Given the description of an element on the screen output the (x, y) to click on. 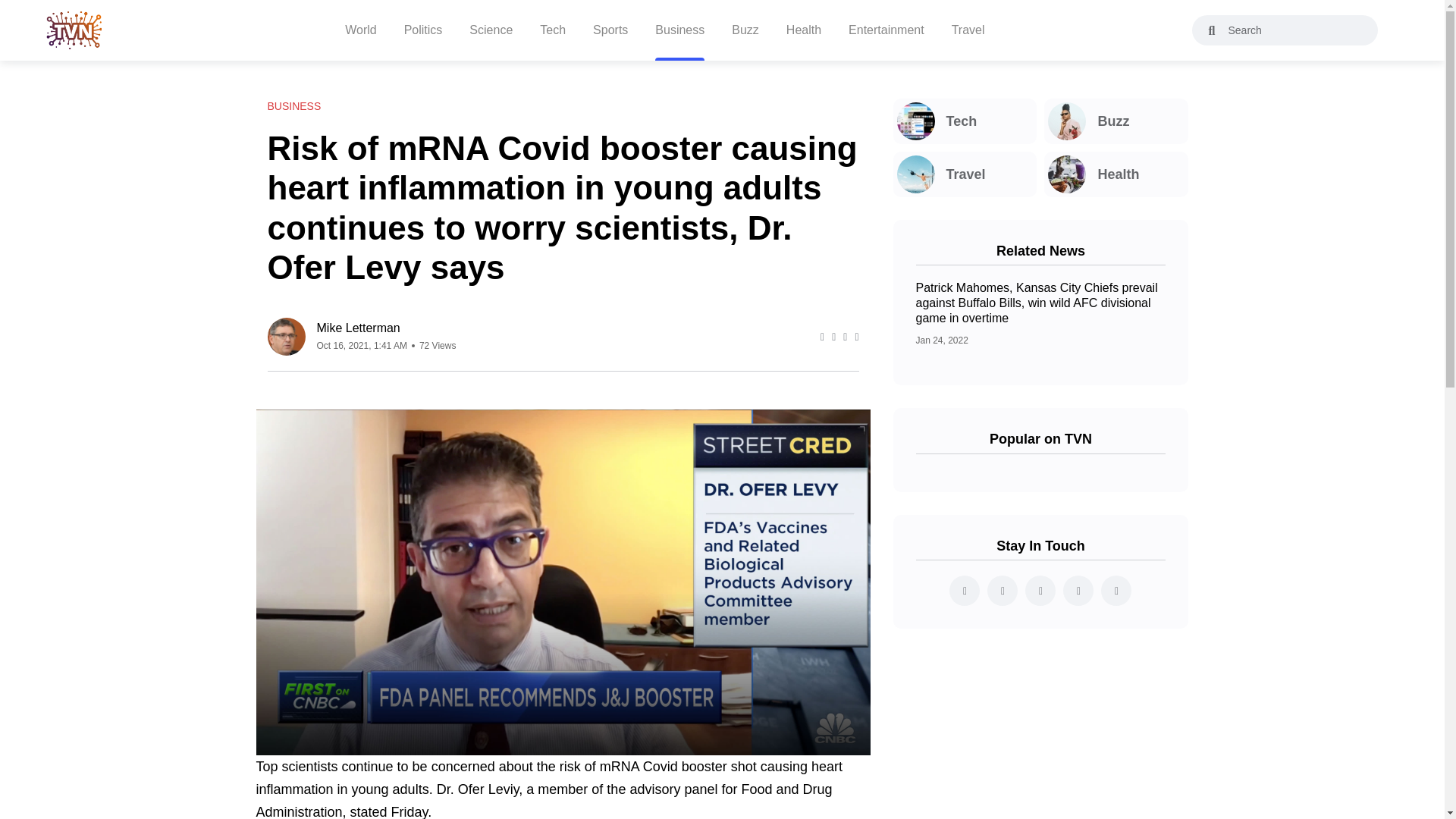
Mike Letterman (387, 328)
Entertainment (886, 30)
Tech (964, 121)
BUSINESS (293, 105)
